Given the description of an element on the screen output the (x, y) to click on. 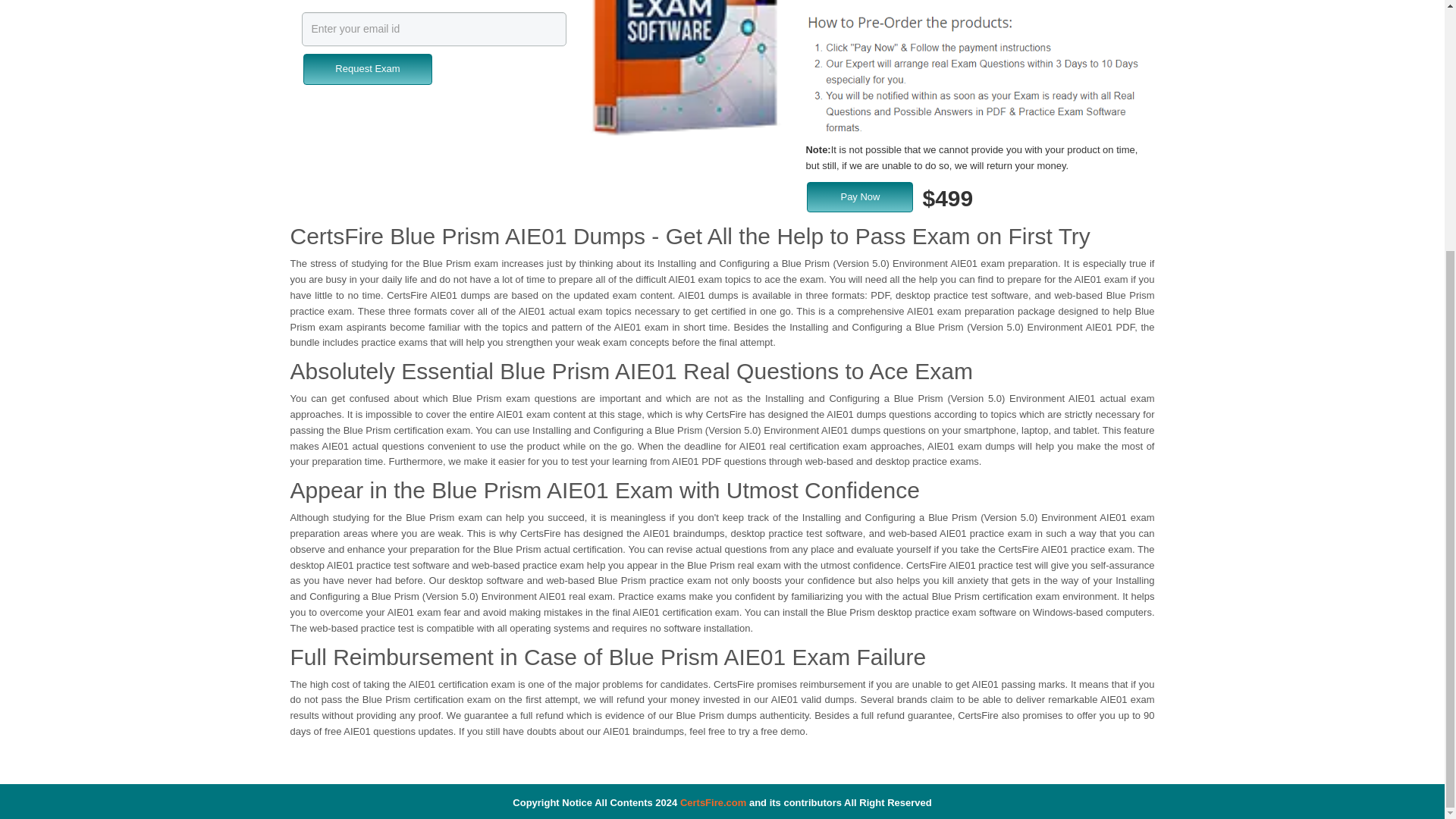
Pay Now (859, 196)
CertsFire.com (712, 802)
Request Exam (367, 69)
